Given the description of an element on the screen output the (x, y) to click on. 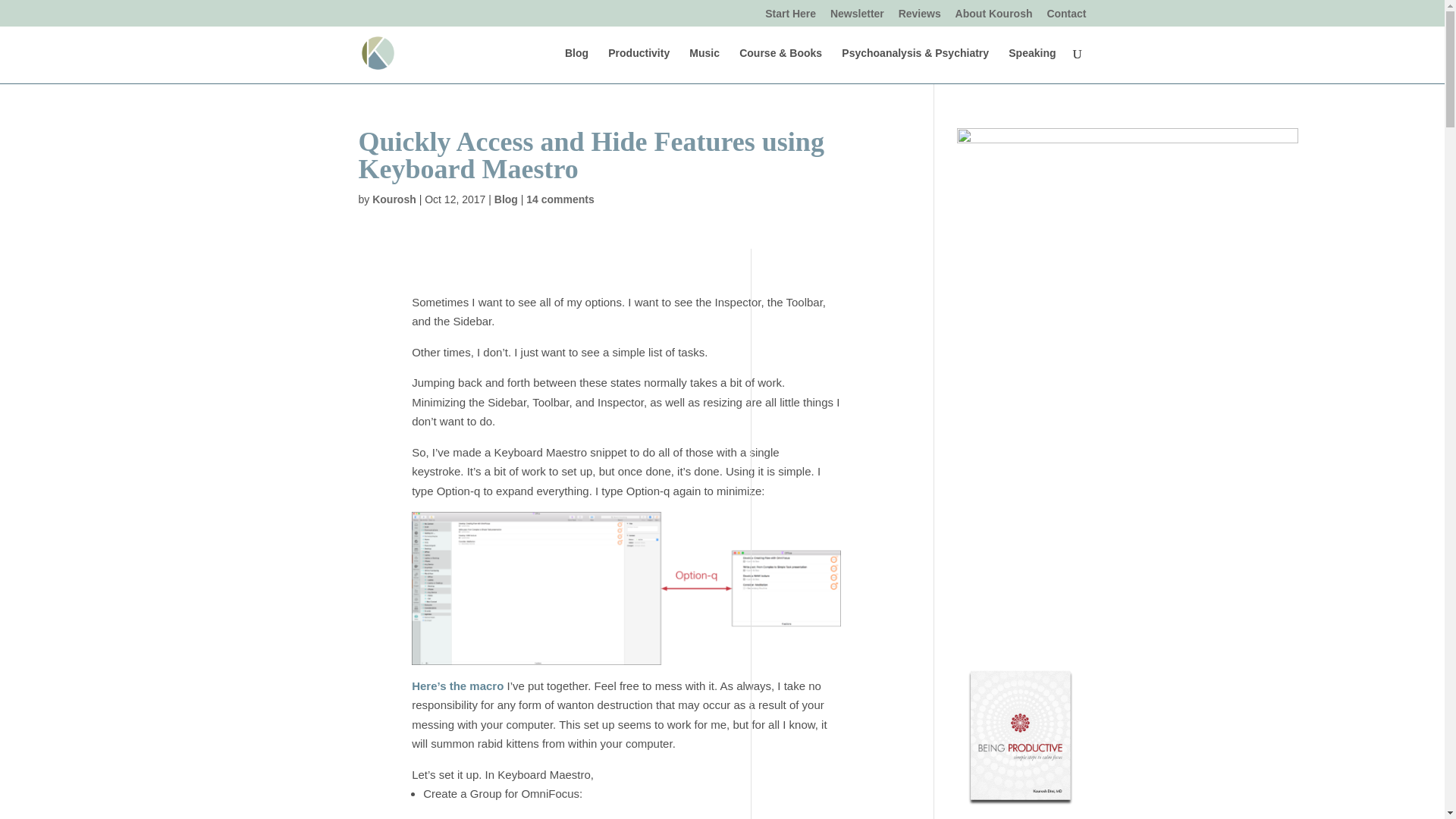
Reviews (919, 16)
Blog (506, 199)
14 comments (559, 199)
Contact (1066, 16)
Newsletter (856, 16)
Start Here (790, 16)
Speaking (1032, 65)
Kourosh (394, 199)
Productivity (638, 65)
About Kourosh (993, 16)
